Given the description of an element on the screen output the (x, y) to click on. 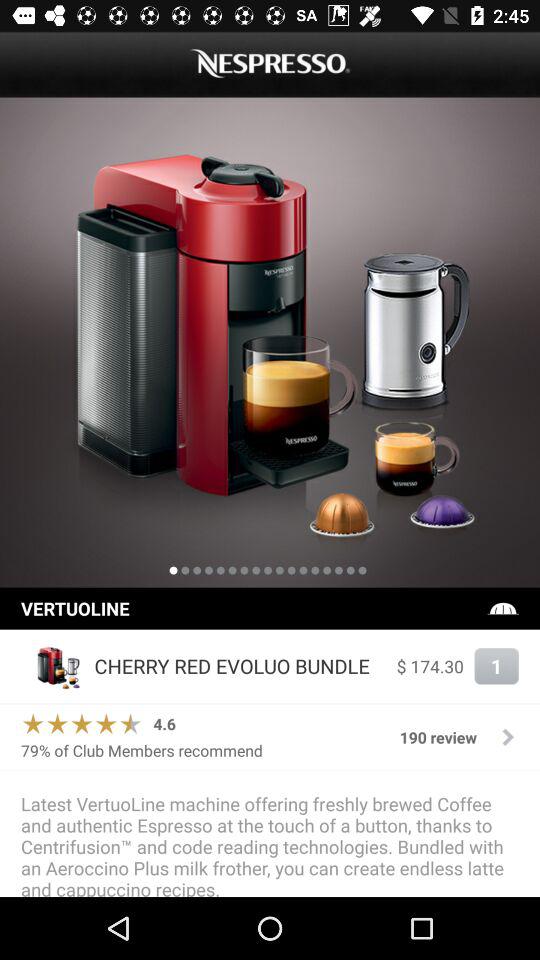
scroll to the 1 item (496, 666)
